Given the description of an element on the screen output the (x, y) to click on. 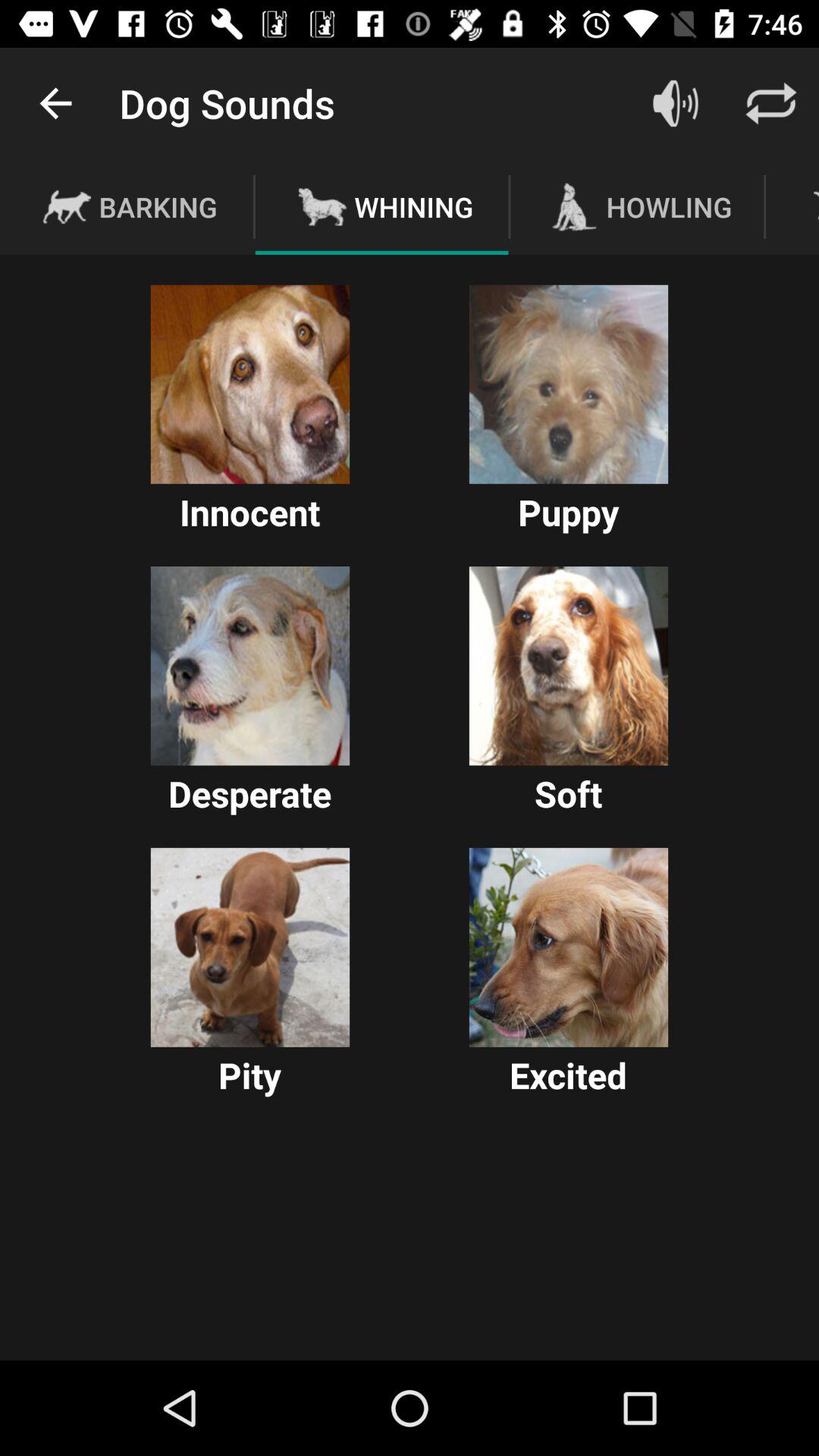
select innocent (249, 384)
